Given the description of an element on the screen output the (x, y) to click on. 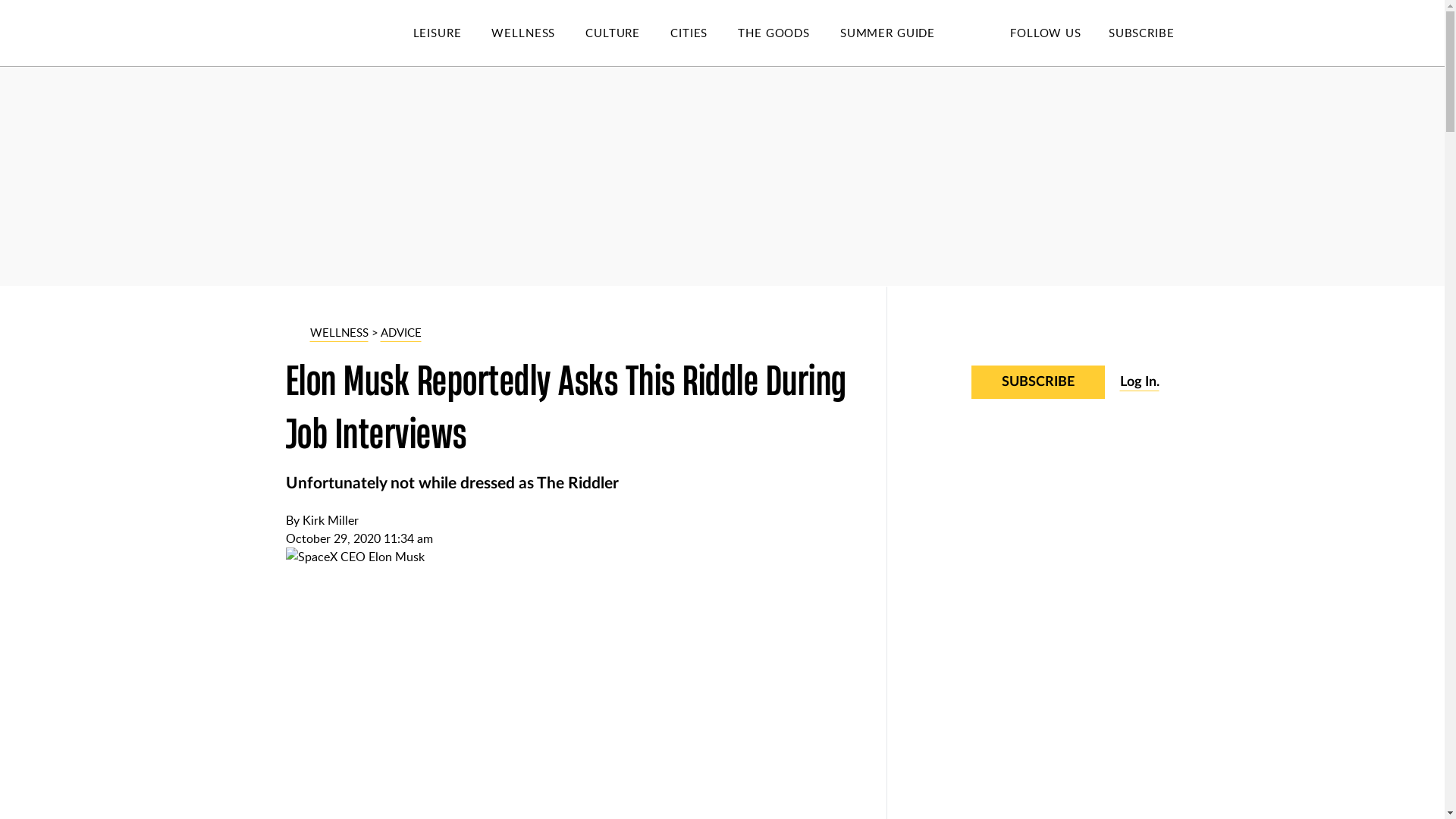
FOLLOW US (1045, 32)
SUBSCRIBE (1141, 31)
SUMMER GUIDE (902, 32)
WELLNESS (538, 32)
LEISURE (452, 32)
CULTURE (627, 32)
THE GOODS (789, 32)
CITIES (703, 32)
